Given the description of an element on the screen output the (x, y) to click on. 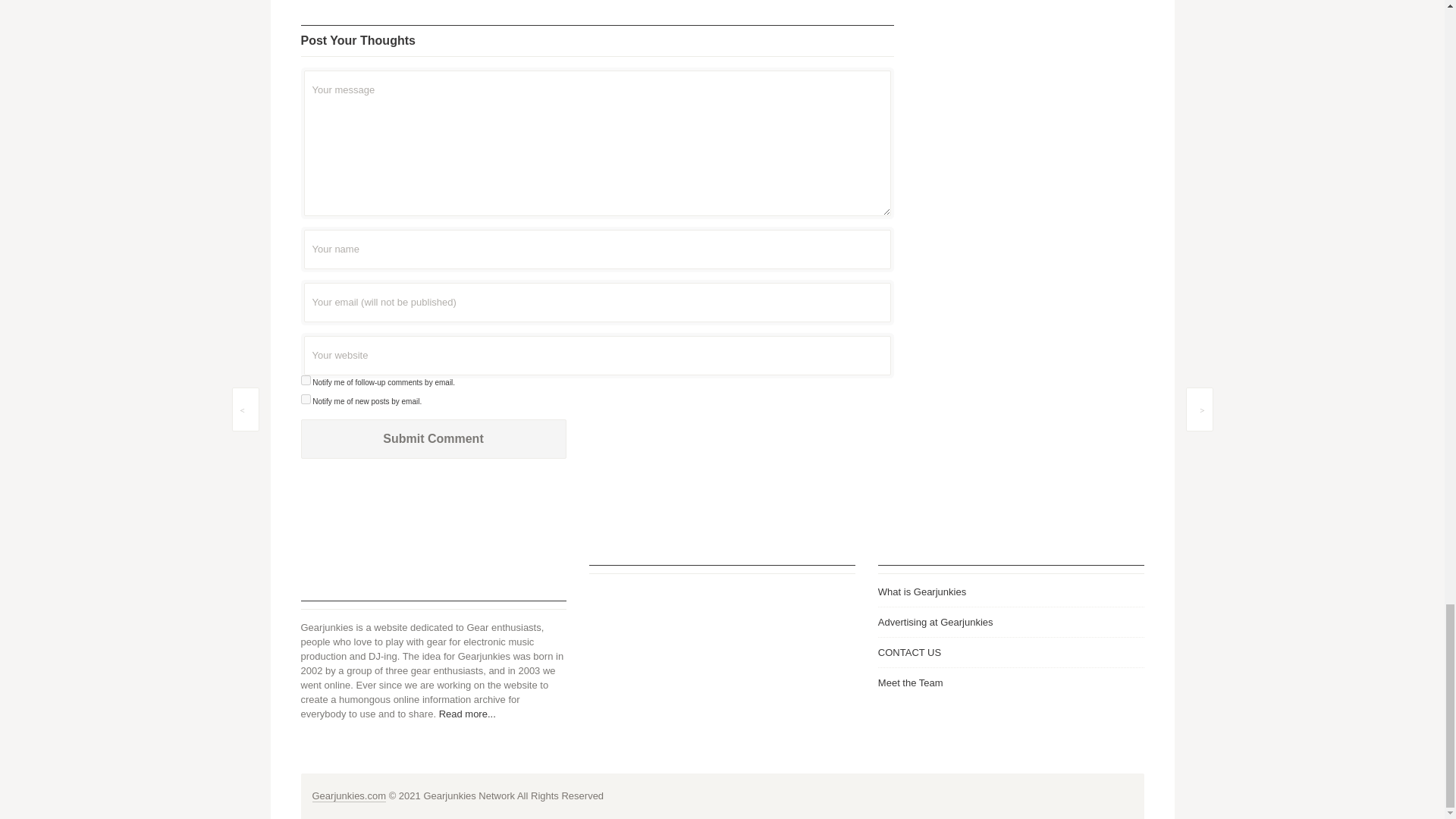
subscribe (304, 379)
Submit Comment (432, 438)
subscribe (304, 398)
